Given the description of an element on the screen output the (x, y) to click on. 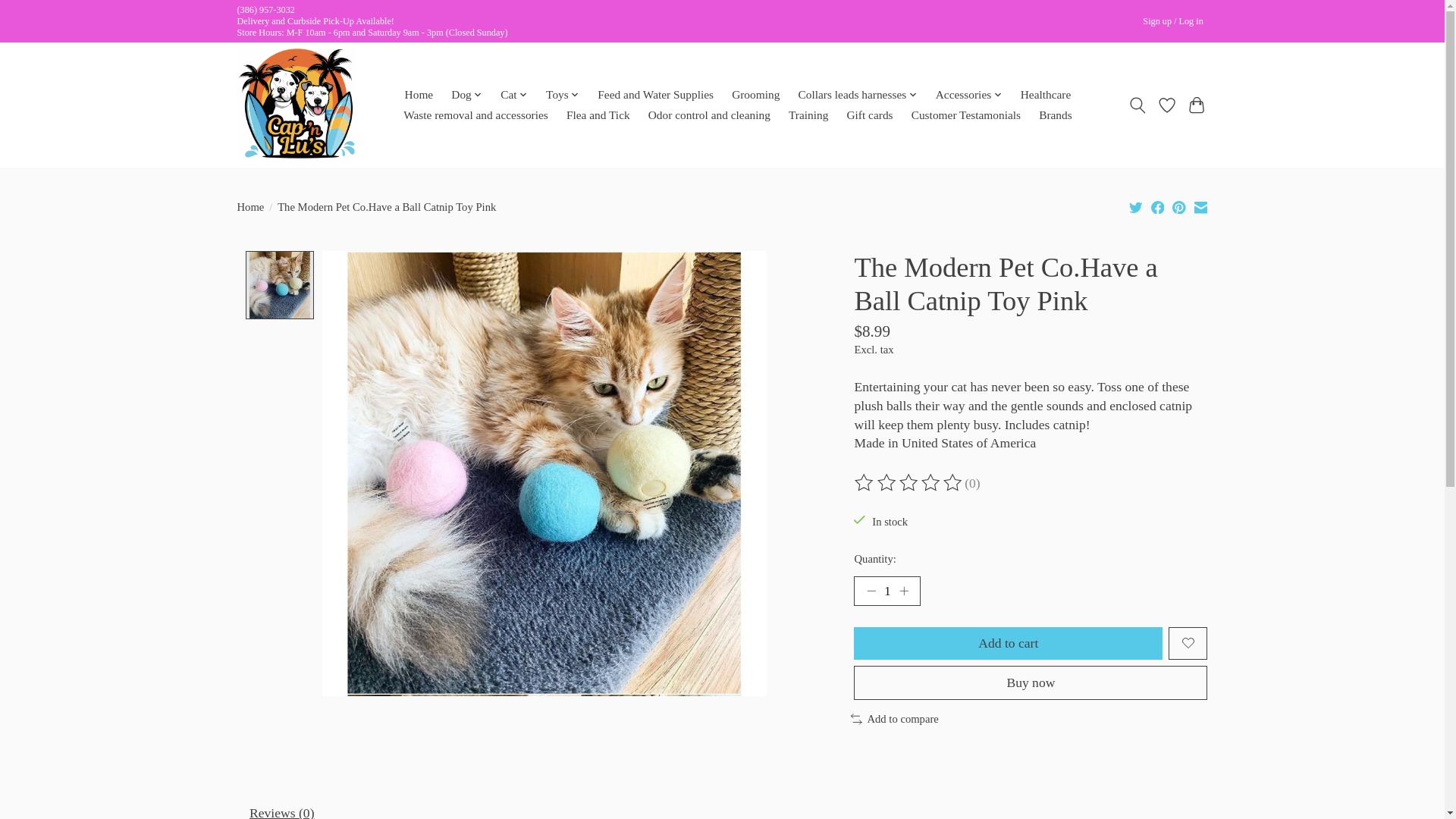
Grooming (756, 94)
My account (1173, 21)
Cat (513, 94)
Share on Twitter (1135, 207)
Collars leads harnesses (857, 94)
Cap'n Lu's  (295, 105)
Home (418, 94)
1 (886, 591)
Share on Pinterest (1178, 207)
Dog (466, 94)
